Given the description of an element on the screen output the (x, y) to click on. 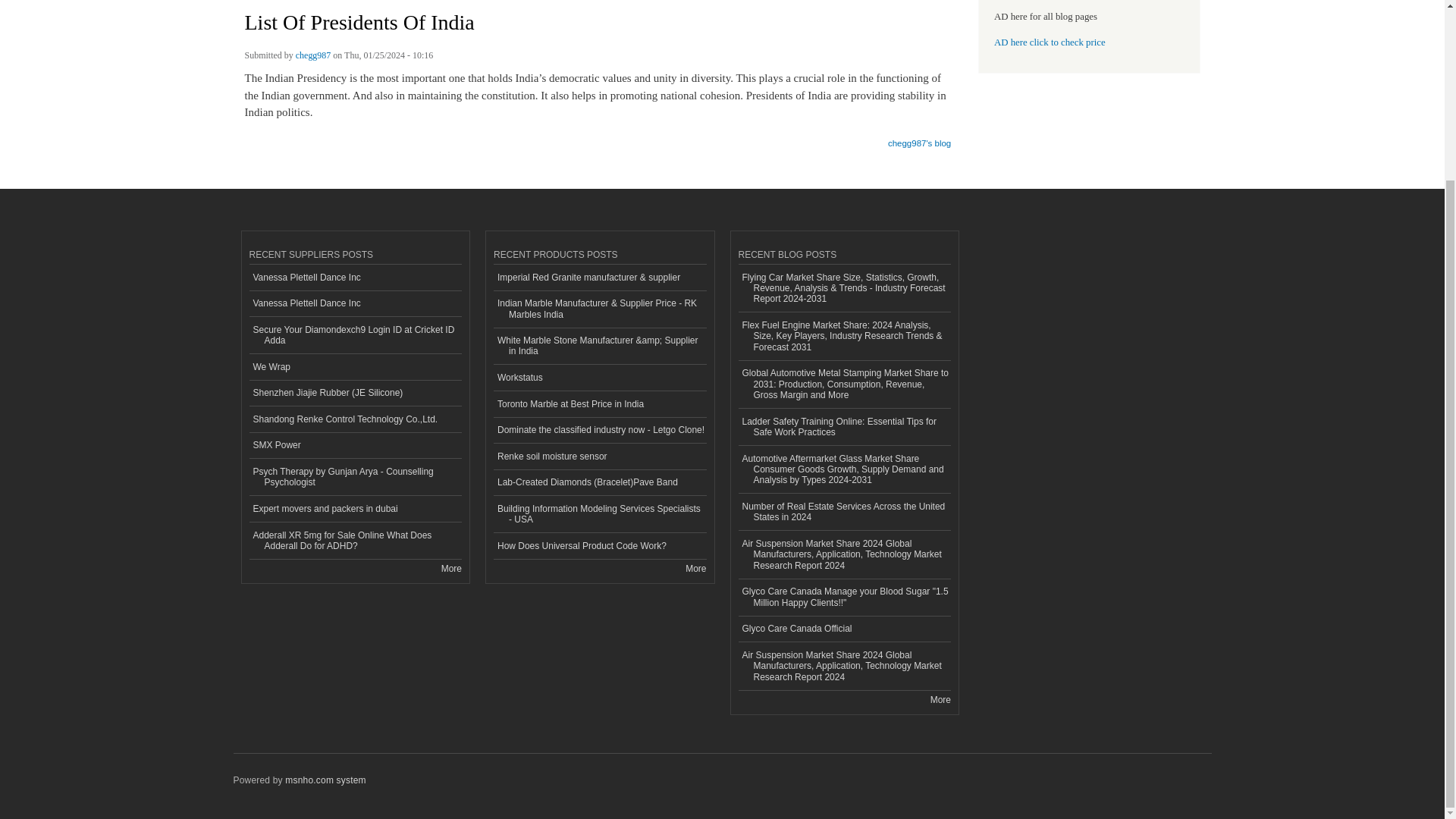
SMX Power (354, 446)
Expert movers and packers in dubai (354, 509)
chegg987's blog (919, 138)
View user profile. (313, 57)
Workstatus (599, 377)
More (451, 568)
Read the latest suppliers entries. (451, 568)
Dominate the classified industry now - Letgo Clone! (599, 430)
Vanessa Plettell Dance Inc (354, 304)
Secure Your Diamondexch9 Login ID at Cricket ID Adda (354, 334)
